Given the description of an element on the screen output the (x, y) to click on. 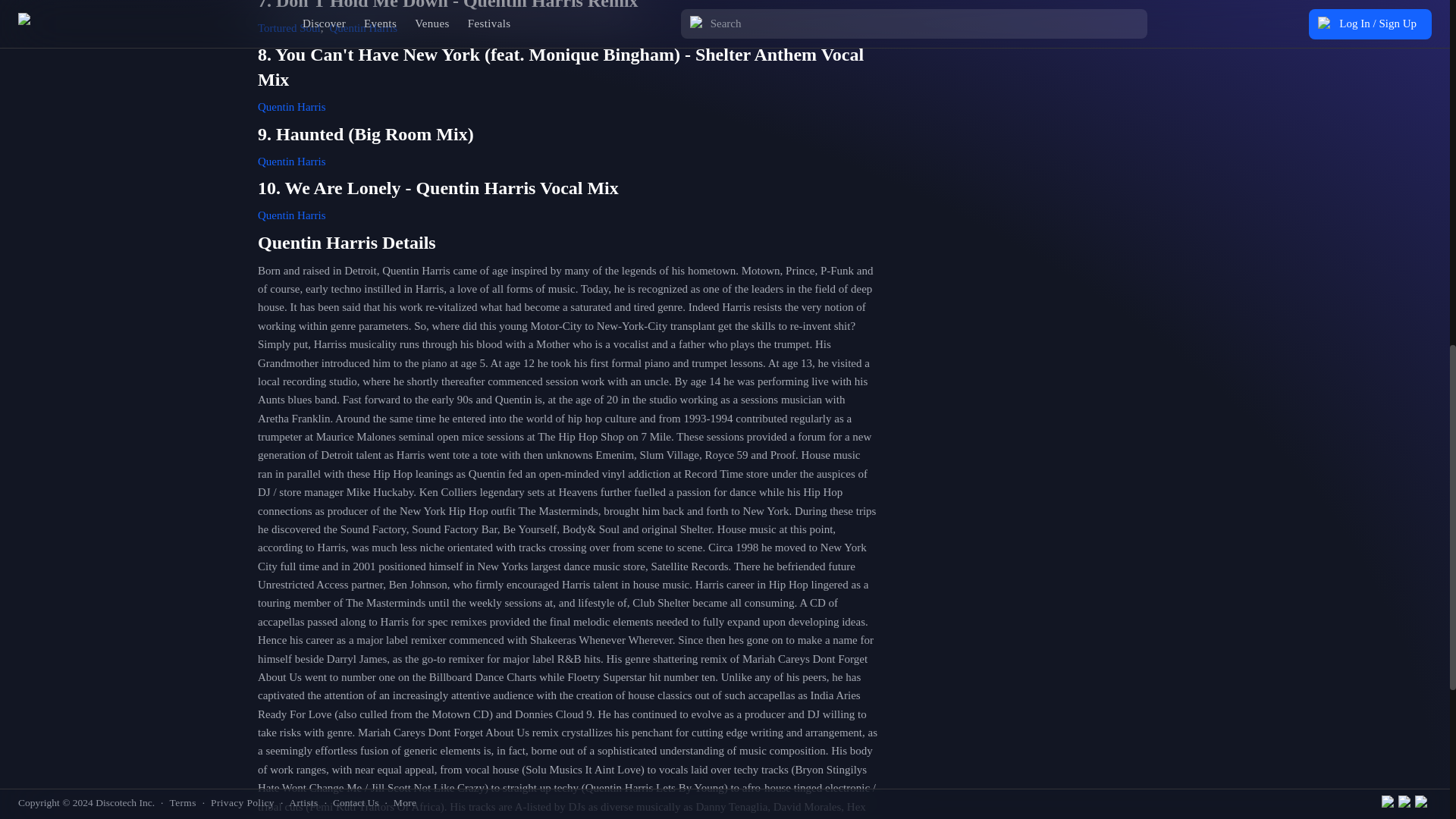
Quentin Harris (291, 215)
Quentin Harris (291, 106)
Tortured Soul (288, 28)
Quentin Harris (363, 28)
Quentin Harris (291, 161)
